Given the description of an element on the screen output the (x, y) to click on. 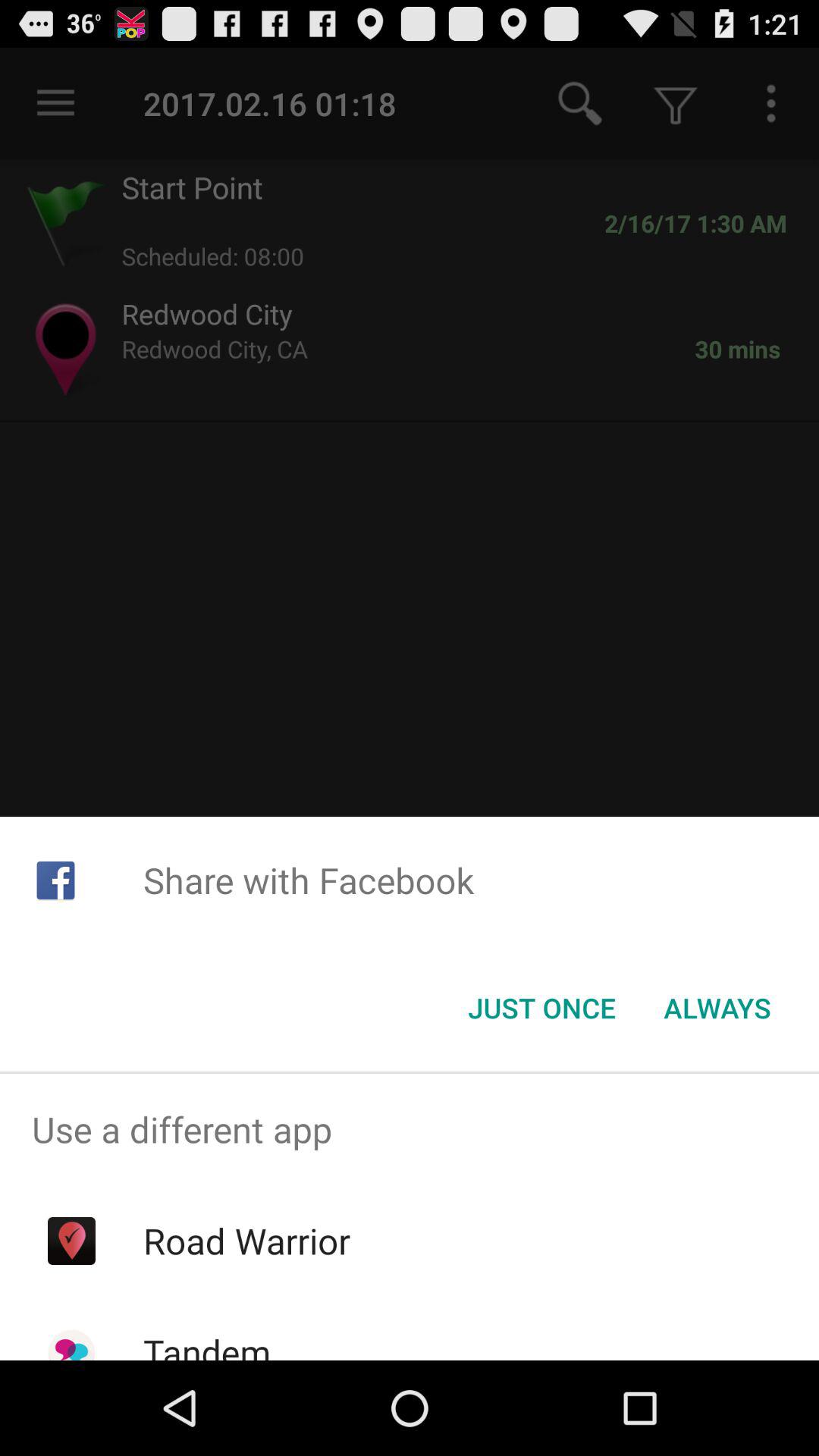
open the road warrior item (246, 1240)
